Given the description of an element on the screen output the (x, y) to click on. 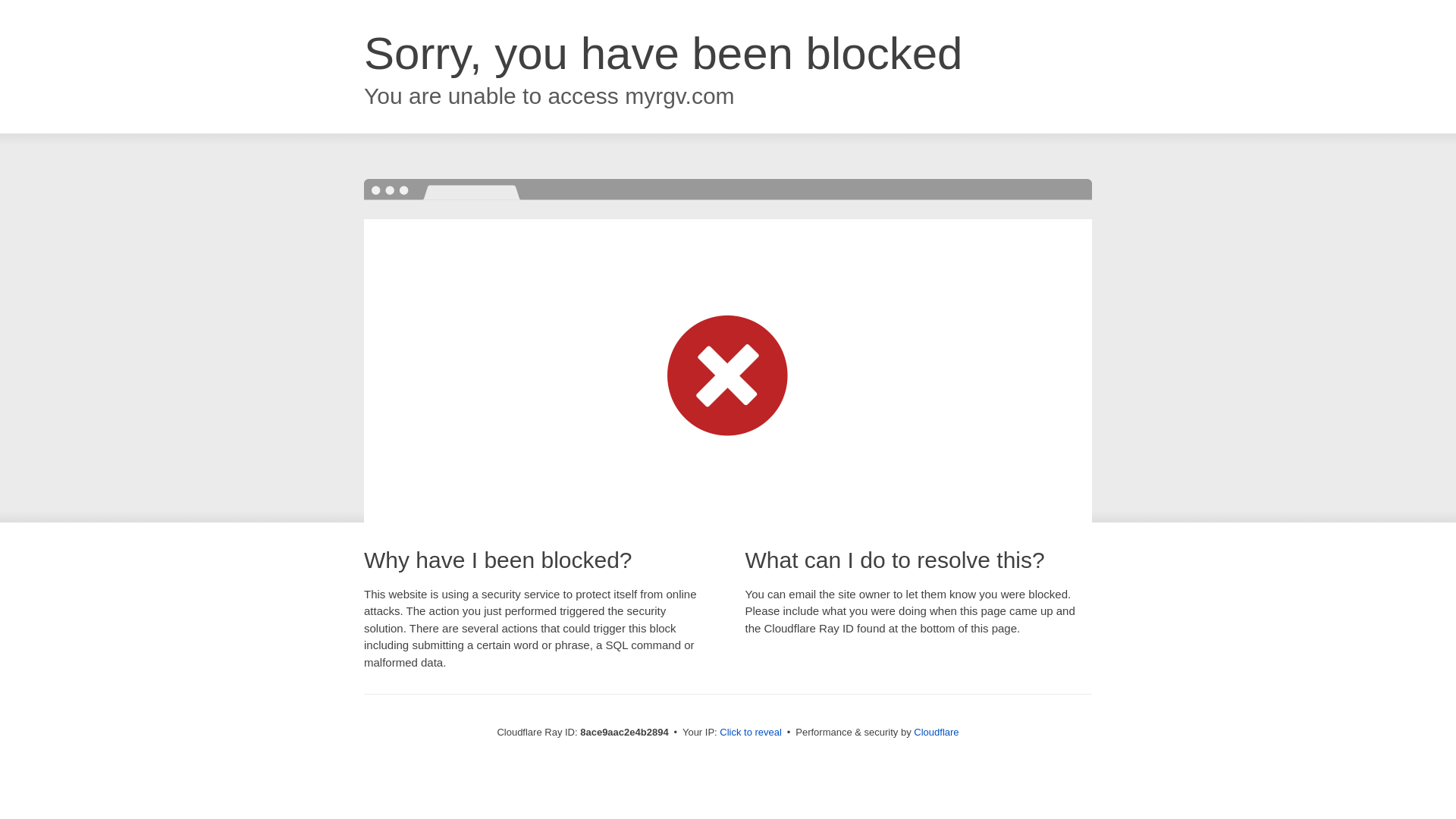
Click to reveal (750, 732)
Cloudflare (936, 731)
